Given the description of an element on the screen output the (x, y) to click on. 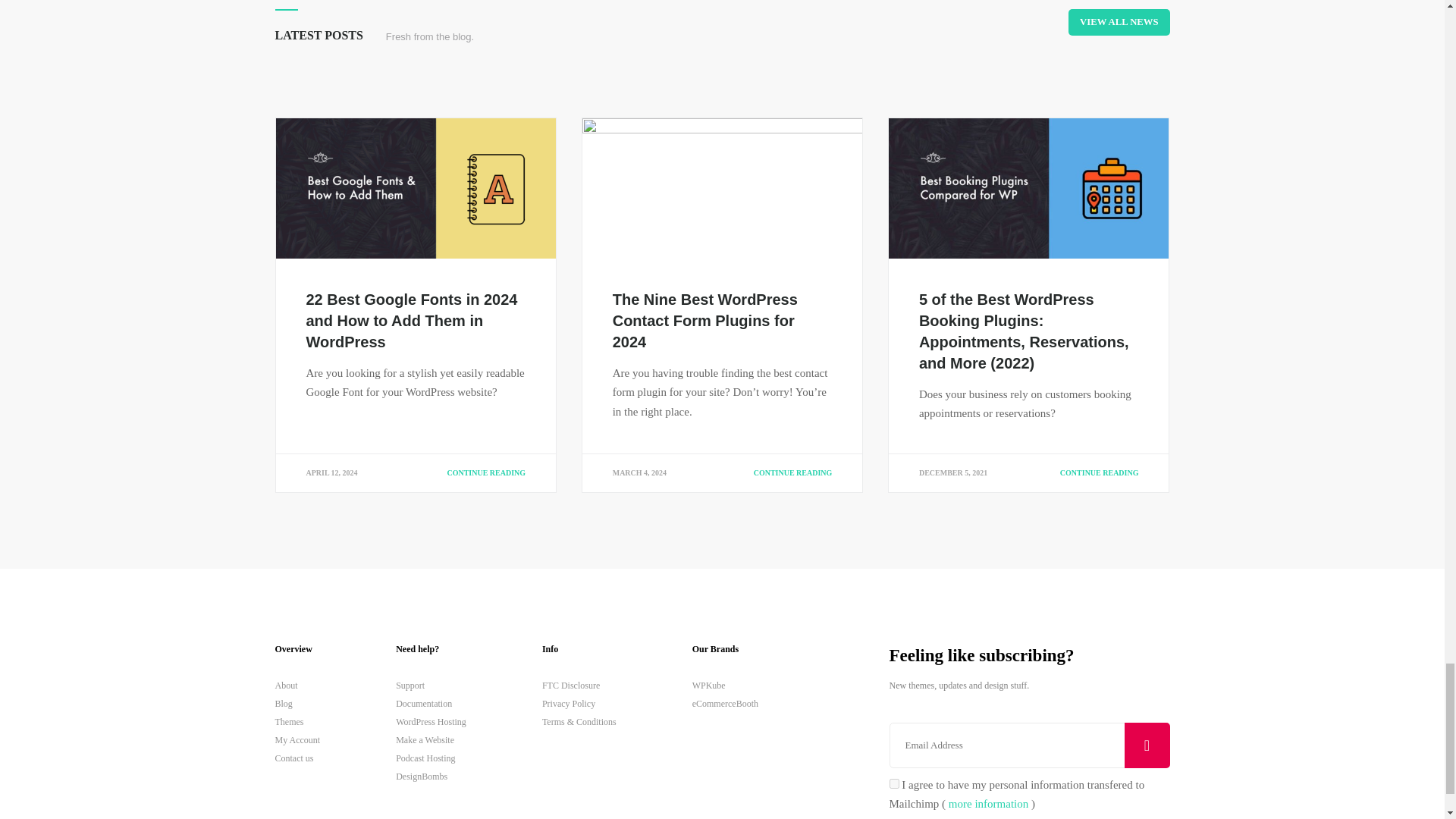
Podcast Hosting (430, 758)
CONTINUE READING (793, 472)
FTC Disclosure (578, 685)
Make a Website (430, 740)
Themes (297, 721)
CONTINUE READING (485, 472)
DesignBombs (430, 776)
Blog (297, 703)
About (297, 685)
WPKube (725, 685)
Support (430, 685)
Contact us (297, 758)
Privacy Policy (578, 703)
Documentation (430, 703)
